Given the description of an element on the screen output the (x, y) to click on. 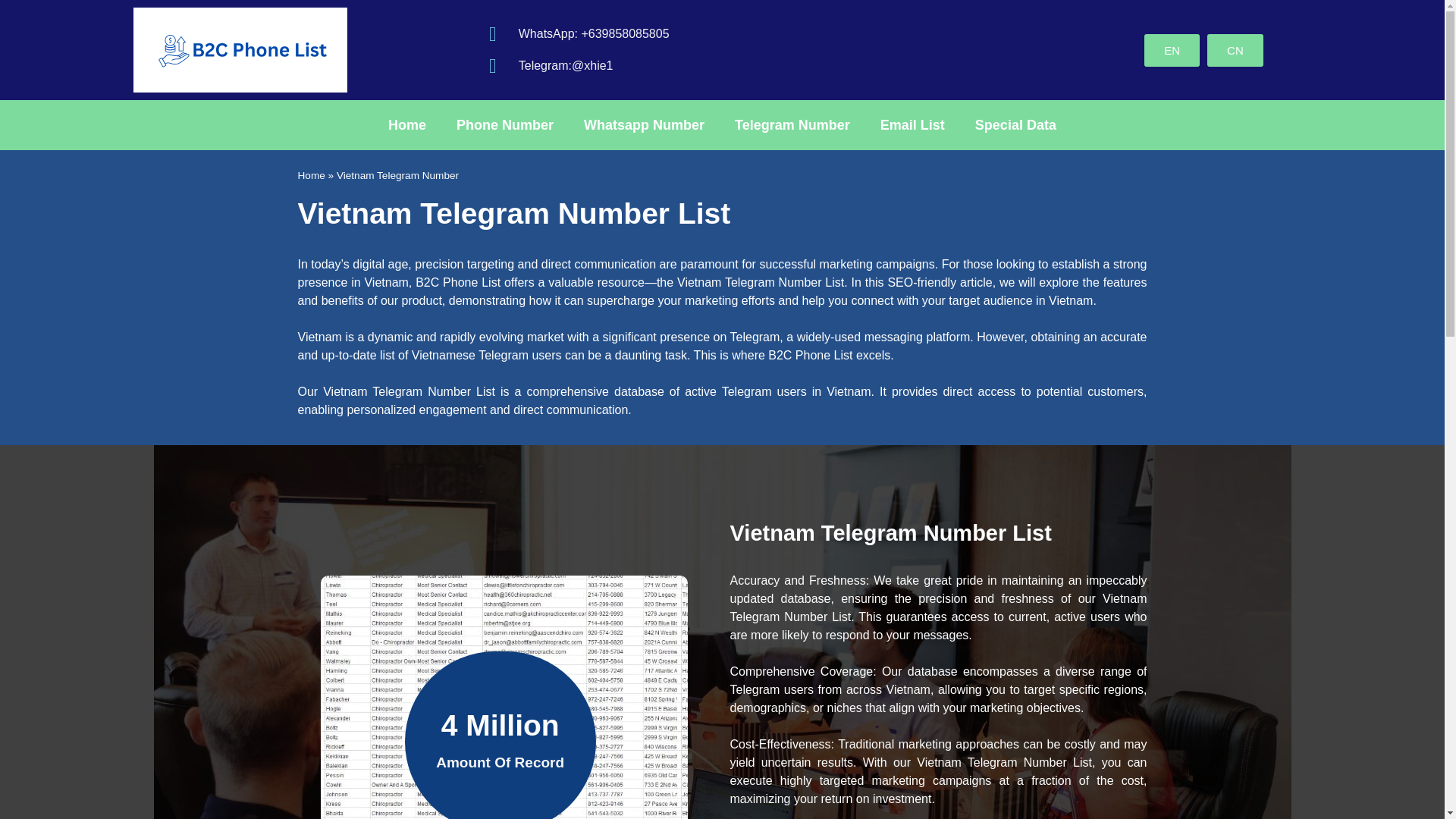
EN (1171, 49)
Telegram Number (791, 124)
Special Data (1015, 124)
Home (406, 124)
Email List (911, 124)
Whatsapp Number (644, 124)
CN (1235, 49)
Home (310, 174)
Phone Number (505, 124)
